Given the description of an element on the screen output the (x, y) to click on. 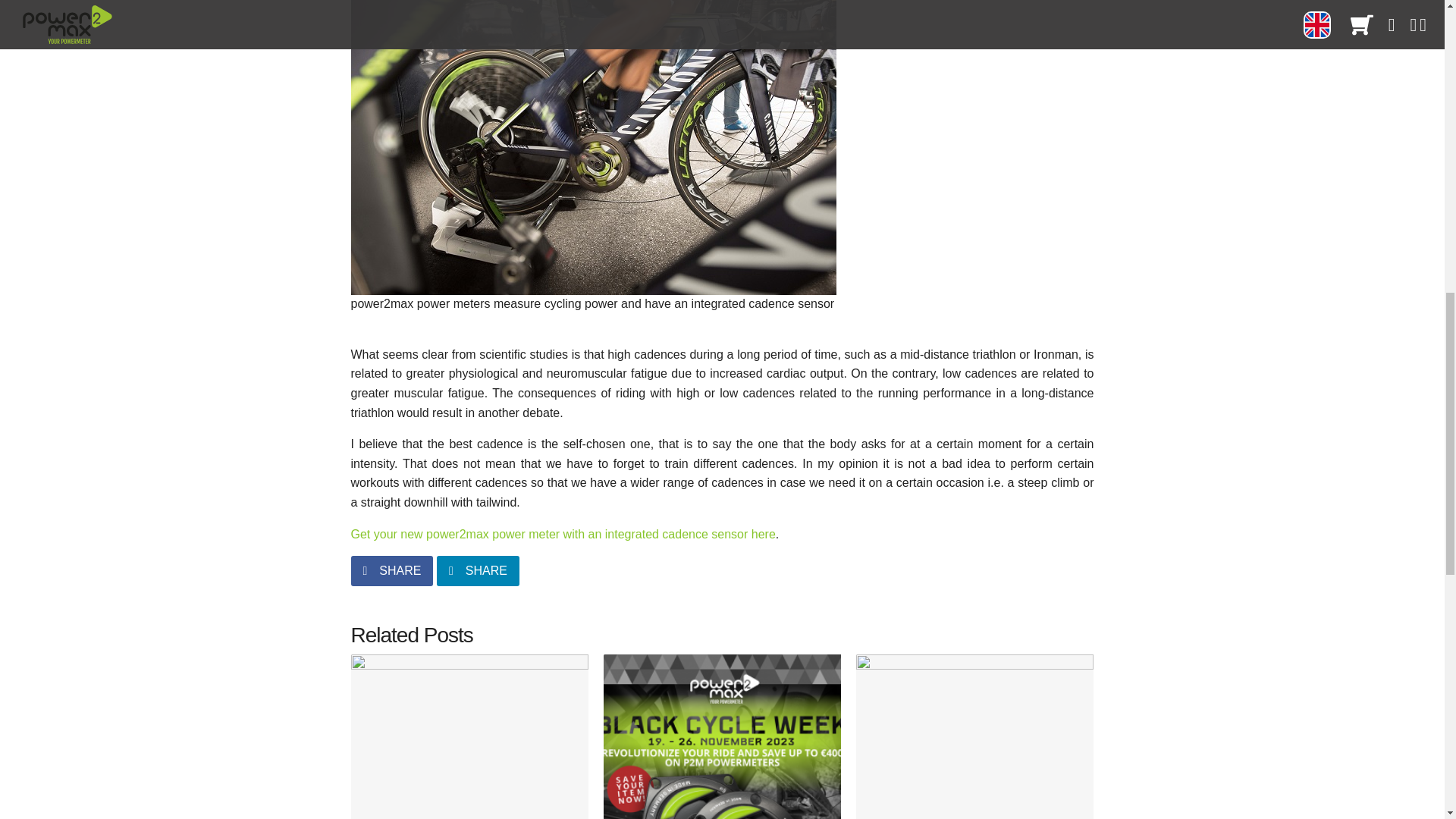
SHARE (391, 571)
SHARE (477, 571)
